Given the description of an element on the screen output the (x, y) to click on. 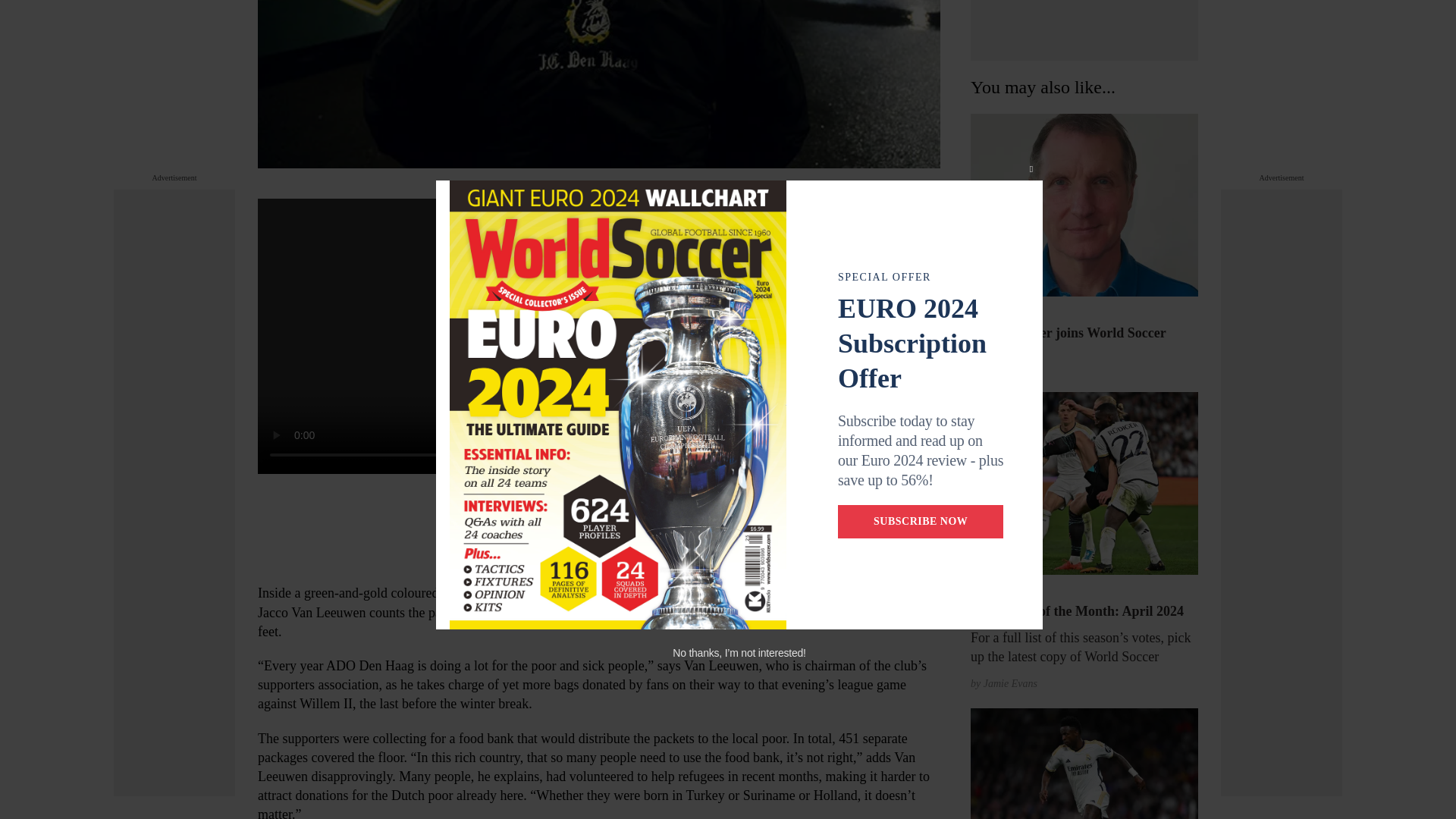
advertisement (1084, 30)
